Given the description of an element on the screen output the (x, y) to click on. 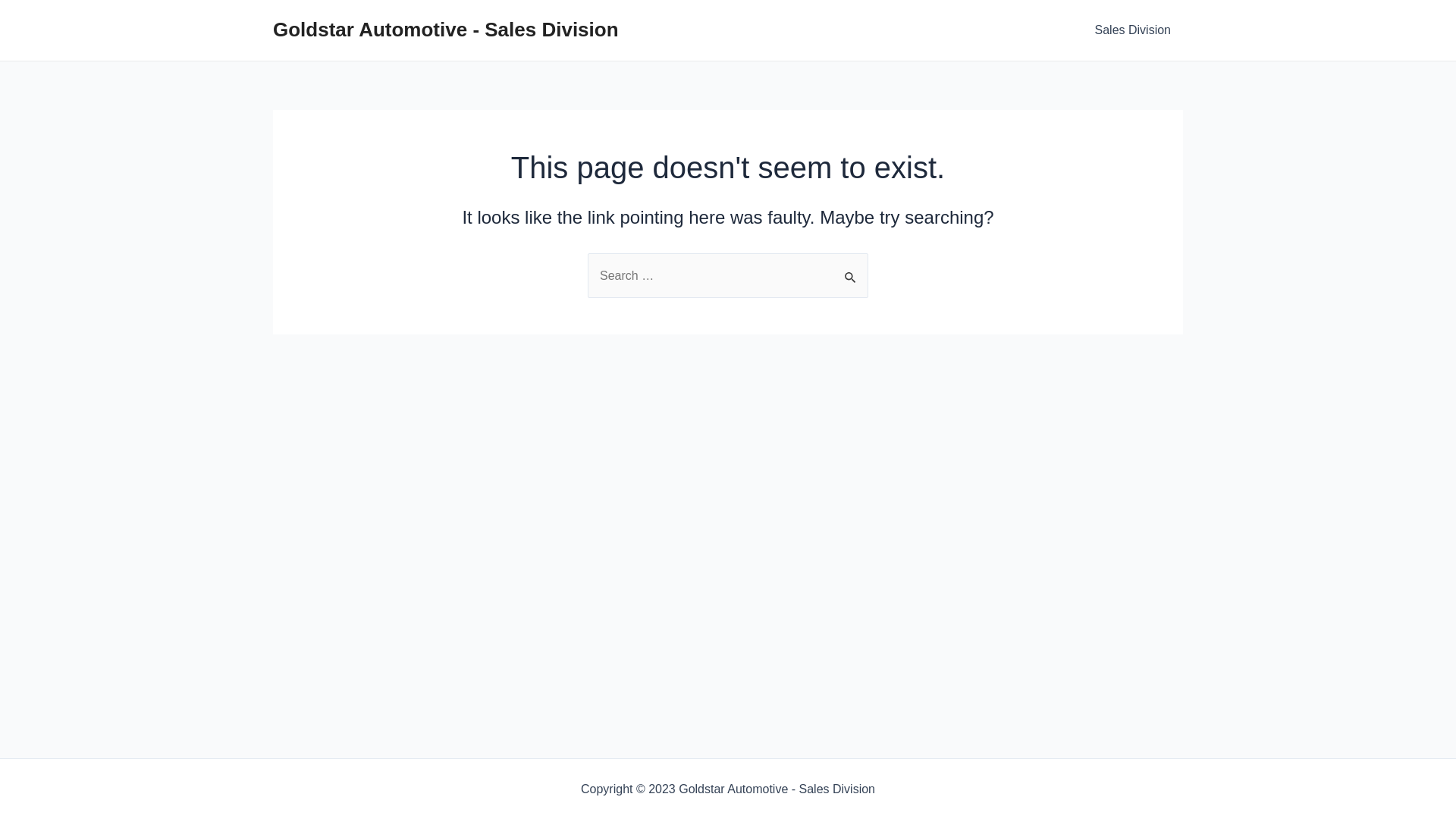
Search Element type: text (851, 269)
Goldstar Automotive - Sales Division Element type: text (445, 29)
Sales Division Element type: text (1132, 30)
